Given the description of an element on the screen output the (x, y) to click on. 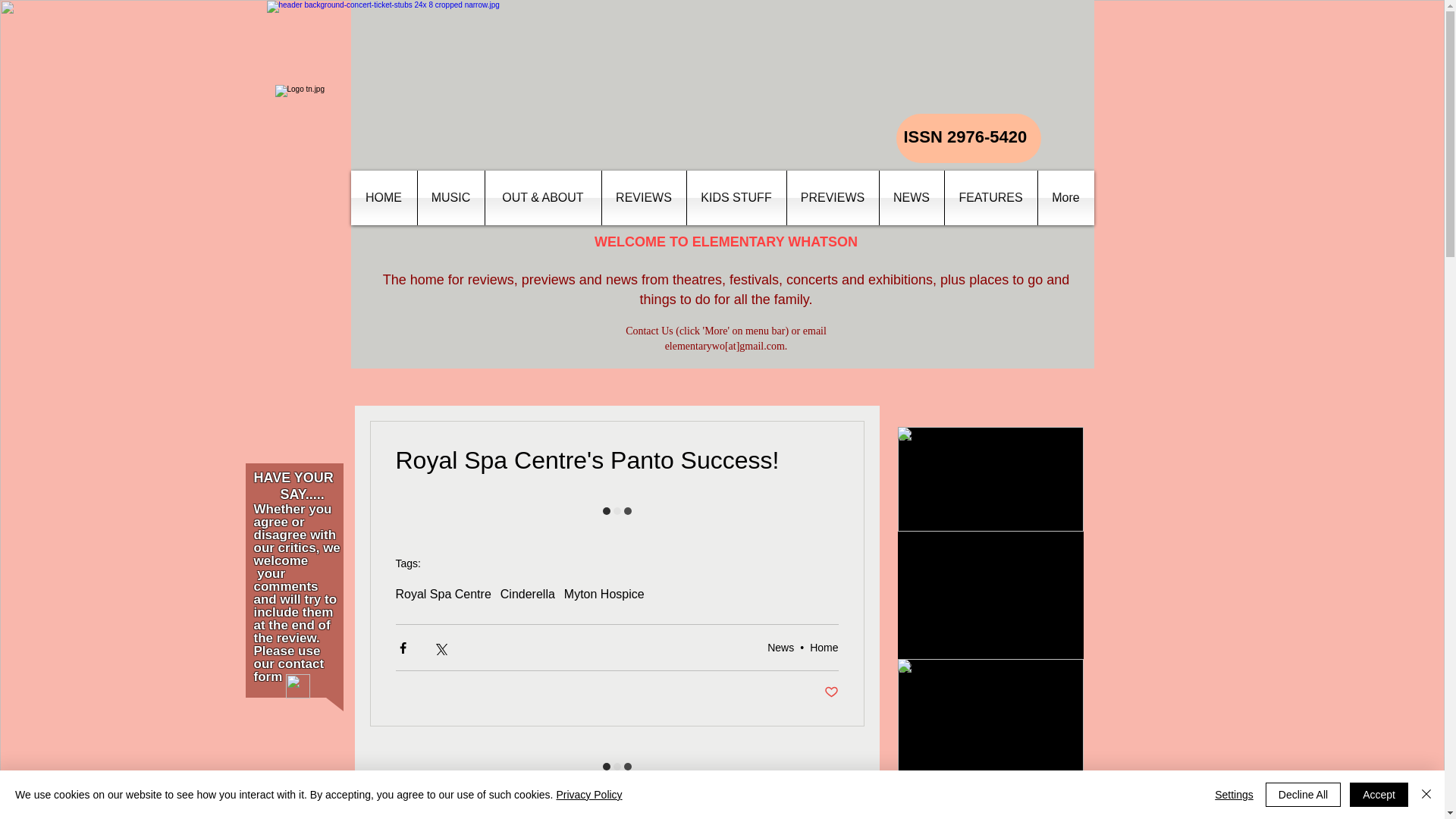
Cinderella (527, 594)
Home (823, 647)
REVIEWS (643, 197)
Privacy Policy (588, 794)
MUSIC (449, 197)
Thank You For The Music (990, 559)
Accept (1378, 794)
HOME (383, 197)
Royal Spa Centre (444, 594)
News (780, 647)
Post not marked as liked (831, 692)
FEATURES (990, 197)
NEWS (911, 197)
Decline All (1302, 794)
PREVIEWS (833, 197)
